Given the description of an element on the screen output the (x, y) to click on. 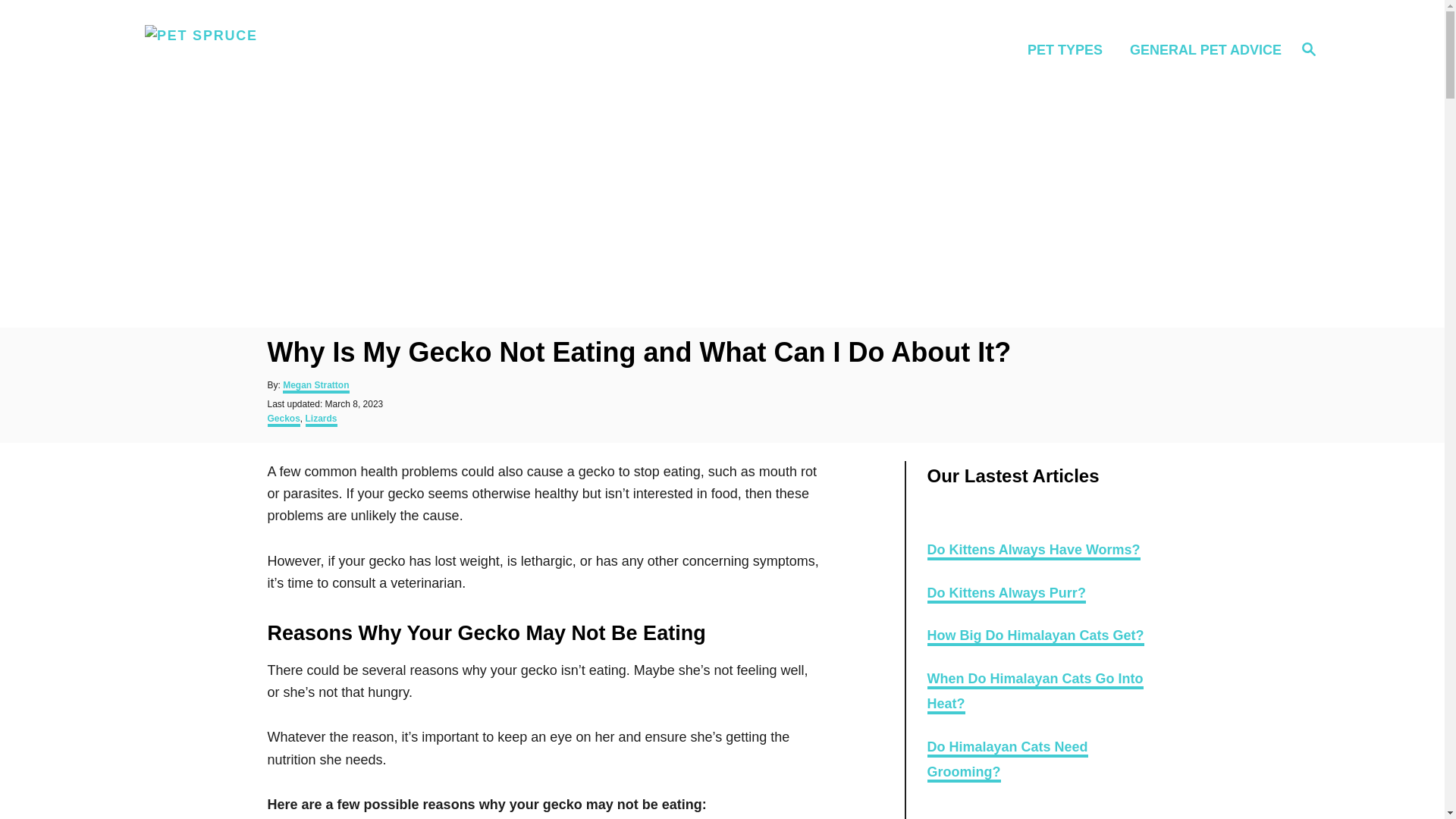
PET TYPES (1069, 49)
Do Kittens Always Have Worms? (1033, 551)
How Big Do Himalayan Cats Get? (1308, 49)
Pet Spruce (1034, 637)
Geckos (285, 50)
Magnifying Glass (282, 419)
Do Himalayan Cats Need Grooming? (1308, 48)
GENERAL PET ADVICE (1006, 760)
Do Kittens Always Purr? (1201, 49)
Lizards (1005, 594)
When Do Himalayan Cats Go Into Heat? (321, 419)
Advertisement (1034, 692)
